Given the description of an element on the screen output the (x, y) to click on. 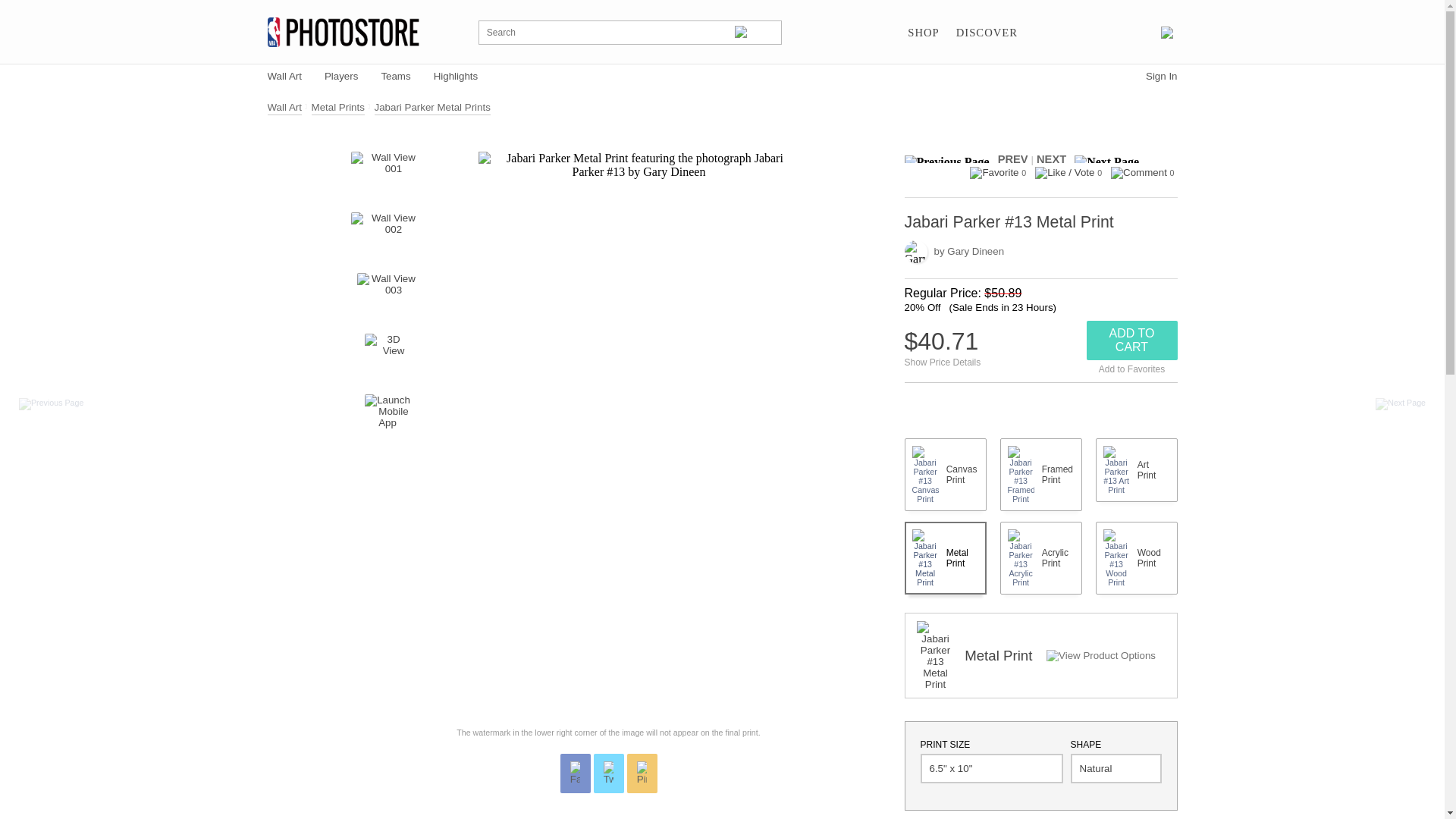
3D View (387, 356)
DISCOVER (987, 32)
Search (754, 32)
Wall View 001 (386, 174)
Favorite (993, 173)
Launch Mobile App (387, 416)
Comment (1138, 173)
NBA Photo Store (342, 31)
SHOP (922, 32)
Wall View 003 (386, 295)
